Given the description of an element on the screen output the (x, y) to click on. 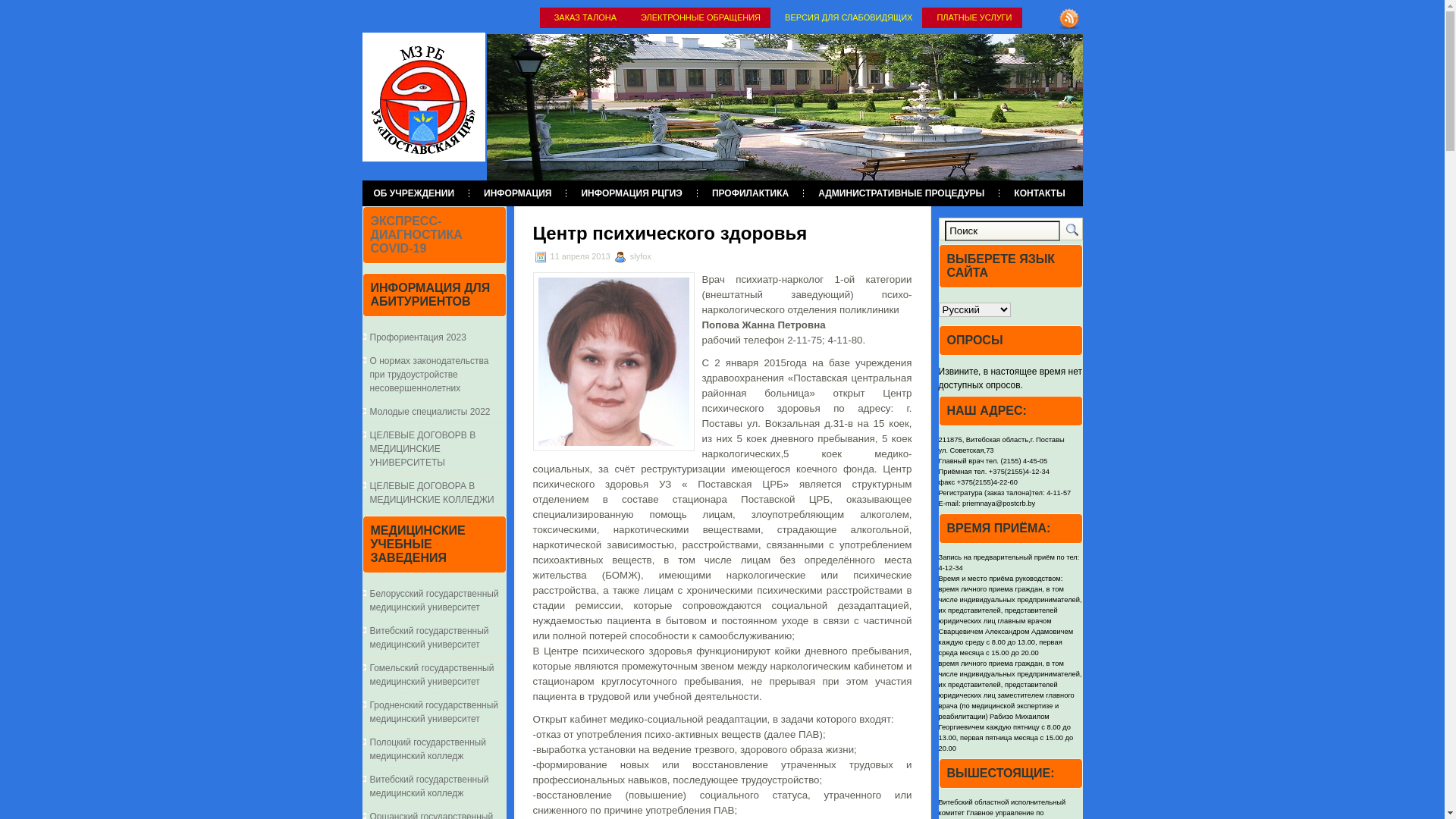
postcrb Element type: hover (423, 96)
